Given the description of an element on the screen output the (x, y) to click on. 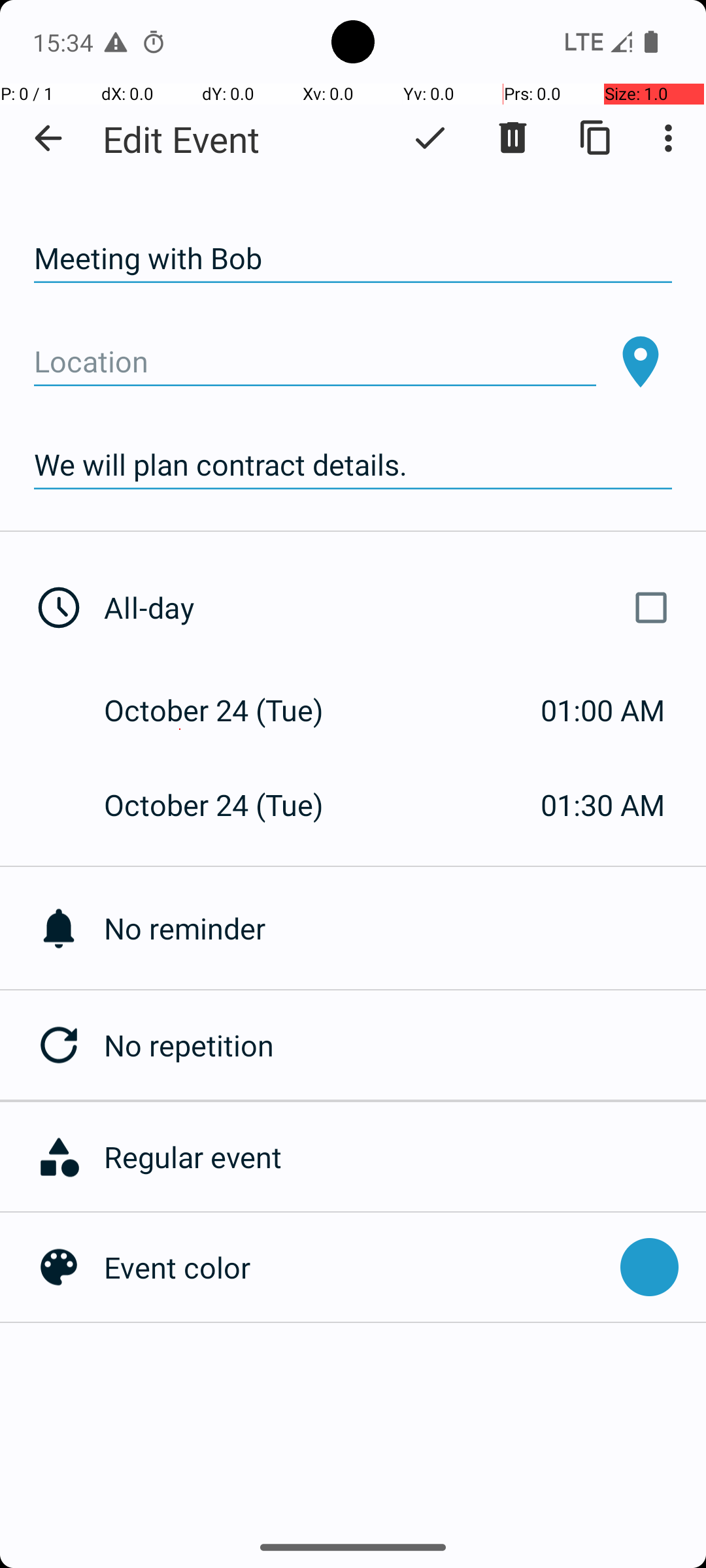
Edit Event Element type: android.widget.TextView (181, 138)
Duplicate event Element type: android.widget.Button (595, 137)
Meeting with Bob Element type: android.widget.EditText (352, 258)
We will plan contract details. Element type: android.widget.EditText (352, 465)
October 24 (Tue) Element type: android.widget.TextView (227, 709)
01:00 AM Element type: android.widget.TextView (602, 709)
01:30 AM Element type: android.widget.TextView (602, 804)
No reminder Element type: android.widget.TextView (404, 927)
No repetition Element type: android.widget.TextView (404, 1044)
All-day Element type: android.widget.CheckBox (390, 607)
Event color Element type: android.widget.TextView (354, 1266)
